Given the description of an element on the screen output the (x, y) to click on. 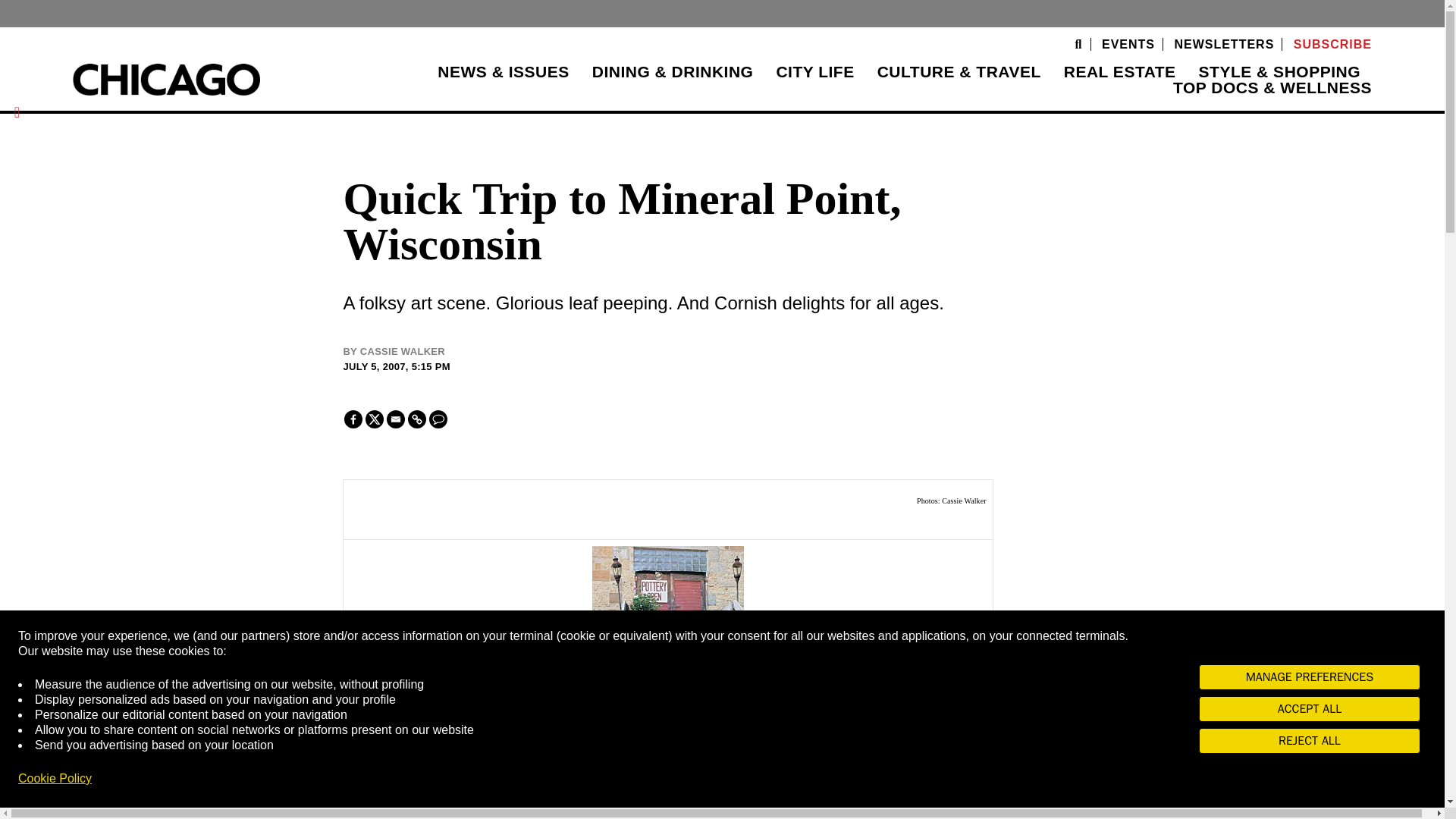
Copy Link (416, 419)
X (374, 419)
MANAGE PREFERENCES (1309, 677)
Cookie Policy (54, 778)
REJECT ALL (1309, 740)
ACCEPT ALL (1309, 708)
comment (437, 419)
Facebook (352, 419)
Email (395, 419)
